Given the description of an element on the screen output the (x, y) to click on. 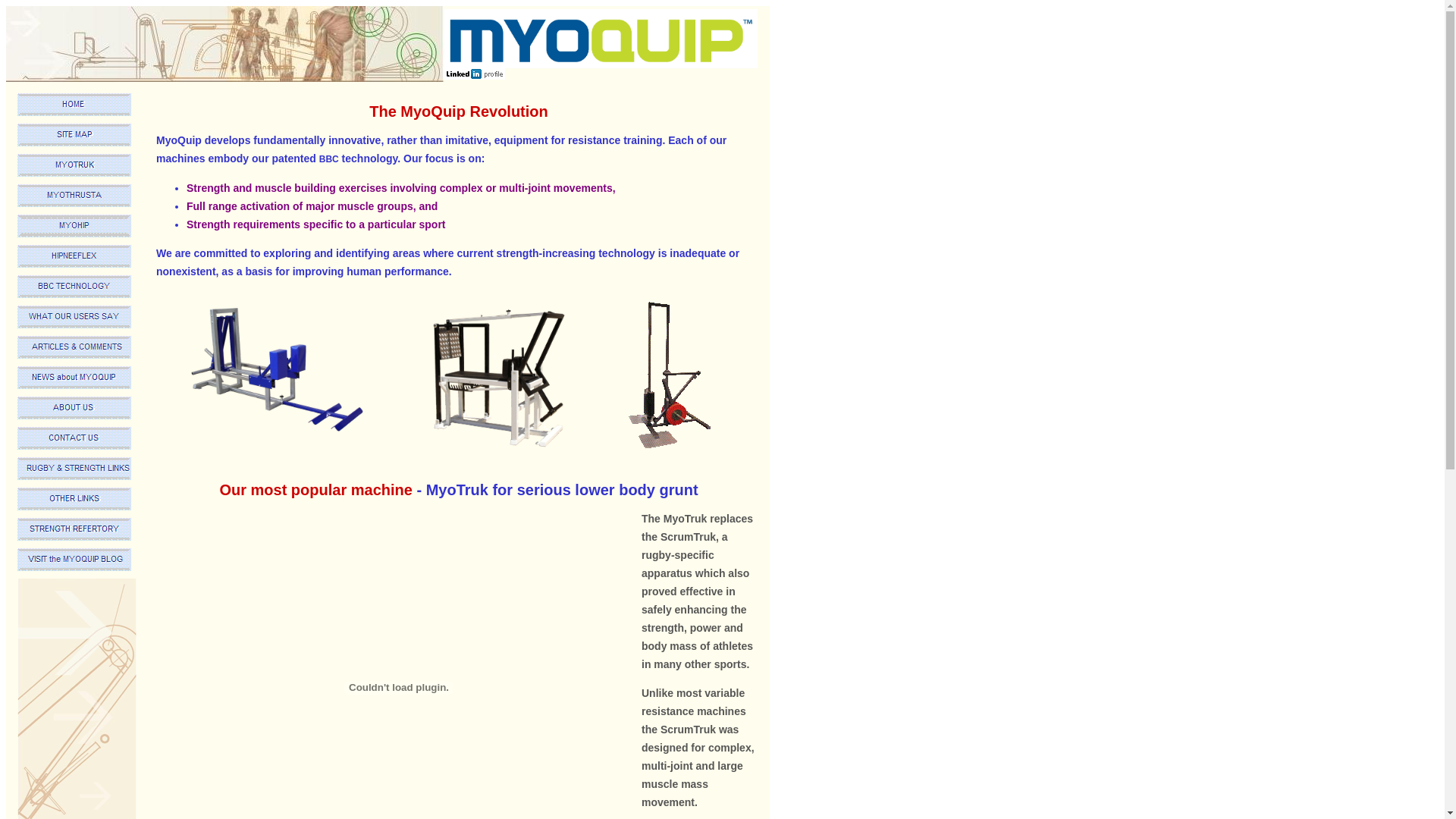
MyoLifta Element type: hover (669, 374)
BBC Element type: text (328, 158)
Myoquip Hipneeflex Element type: hover (74, 255)
Myoquip MyoHip Element type: hover (74, 225)
Home Element type: hover (74, 104)
MyoThrusta Element type: hover (498, 377)
General links and resources Element type: hover (74, 498)
Articles Element type: hover (74, 346)
Blog Element type: hover (74, 559)
Testimonials Element type: hover (74, 316)
QuadTorq technology Element type: hover (74, 286)
MyoTruk Element type: hover (276, 374)
HipneeThrust Element type: hover (74, 195)
About Us Element type: hover (74, 407)
Strength for Sport Refertory Element type: hover (74, 528)
Contact Us Element type: hover (74, 437)
Site Map Element type: hover (74, 134)
Rugby and strength links and resources Element type: hover (74, 468)
ScrumTruk Element type: hover (74, 164)
News Element type: hover (74, 377)
